Given the description of an element on the screen output the (x, y) to click on. 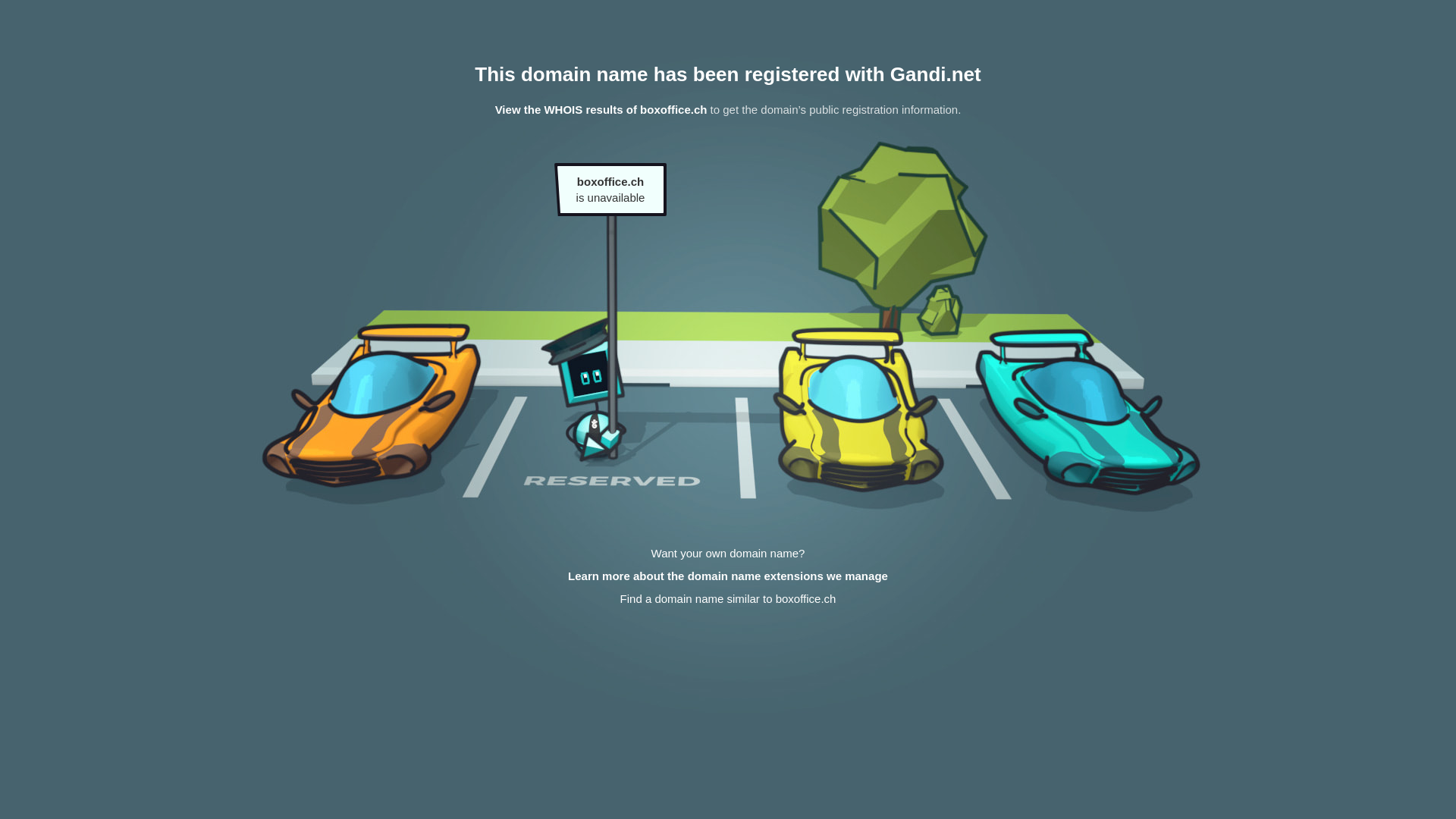
Find a domain name similar to boxoffice.ch Element type: text (728, 598)
Learn more about the domain name extensions we manage Element type: text (727, 575)
View the WHOIS results of boxoffice.ch Element type: text (601, 109)
